Given the description of an element on the screen output the (x, y) to click on. 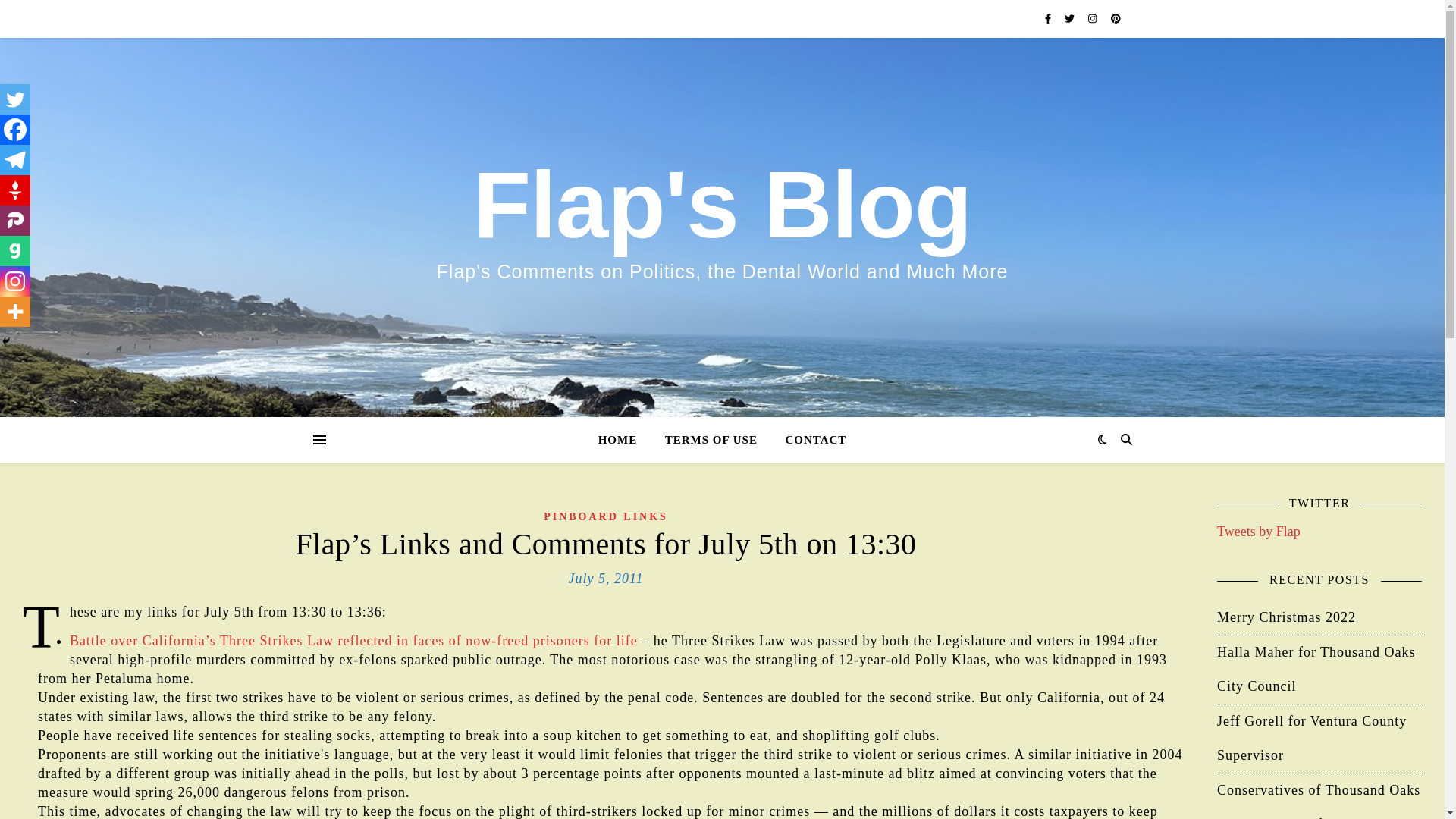
HOME (623, 439)
CONTACT (809, 439)
PINBOARD LINKS (605, 516)
Instagram (15, 281)
Tweets by Flap (1258, 531)
Merry Christmas 2022 (1286, 616)
Halla Maher for Thousand Oaks City Council (1316, 668)
Gettr (15, 190)
More (15, 311)
Hide (5, 340)
TERMS OF USE (711, 439)
Parler (15, 220)
Gab (15, 250)
Twitter (15, 99)
Facebook (15, 129)
